Given the description of an element on the screen output the (x, y) to click on. 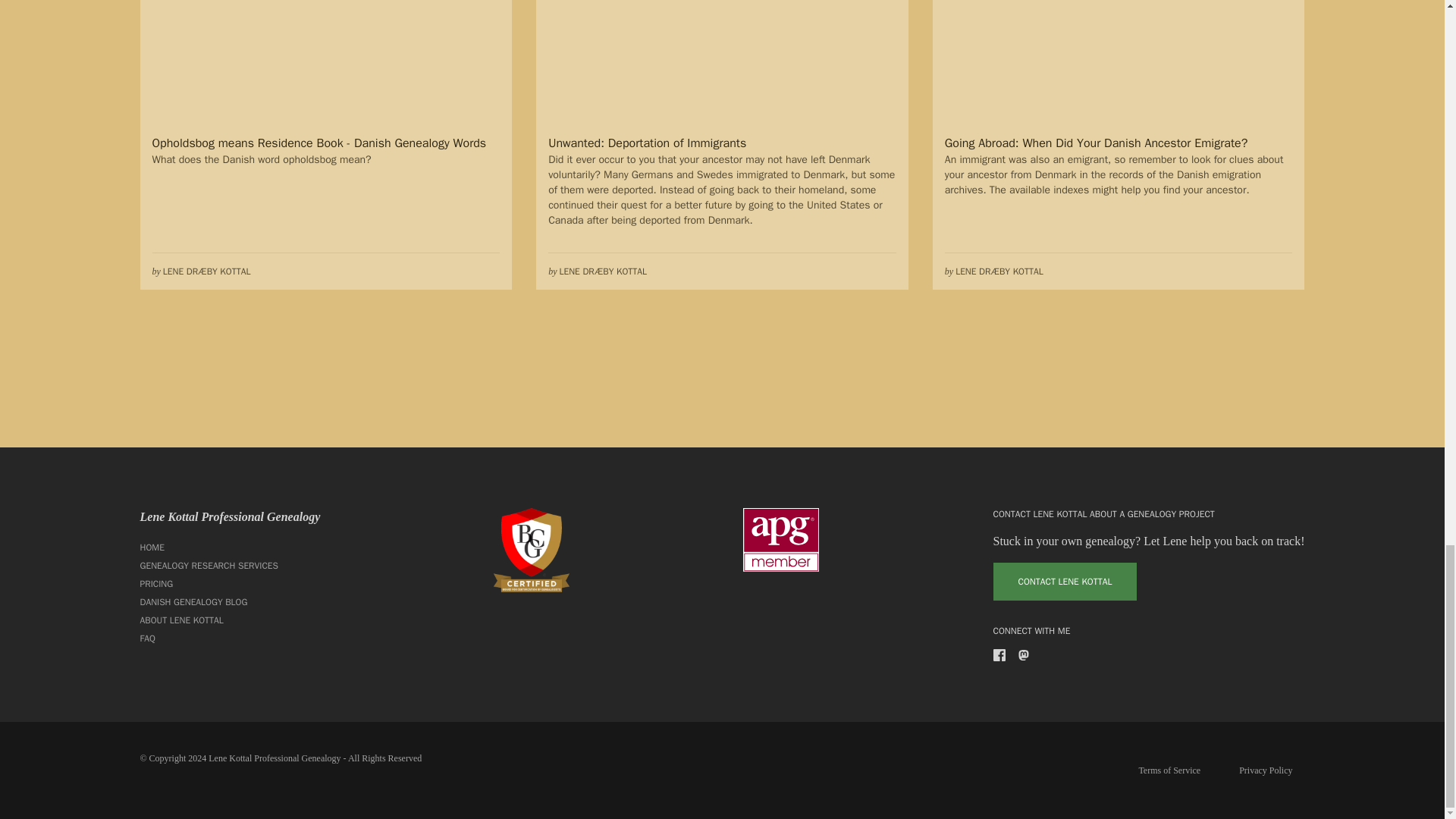
Privacy Policy (1265, 770)
Mastodon (1023, 654)
Facebook (999, 654)
DANISH GENEALOGY BLOG (229, 601)
HOME (229, 547)
ABOUT LENE KOTTAL (229, 619)
GENEALOGY RESEARCH SERVICES (229, 565)
Member of Association of Professional Genealogists (780, 539)
PRICING (229, 583)
FAQ (229, 638)
CONTACT LENE KOTTAL (1064, 581)
Terms of Service (1168, 770)
